Given the description of an element on the screen output the (x, y) to click on. 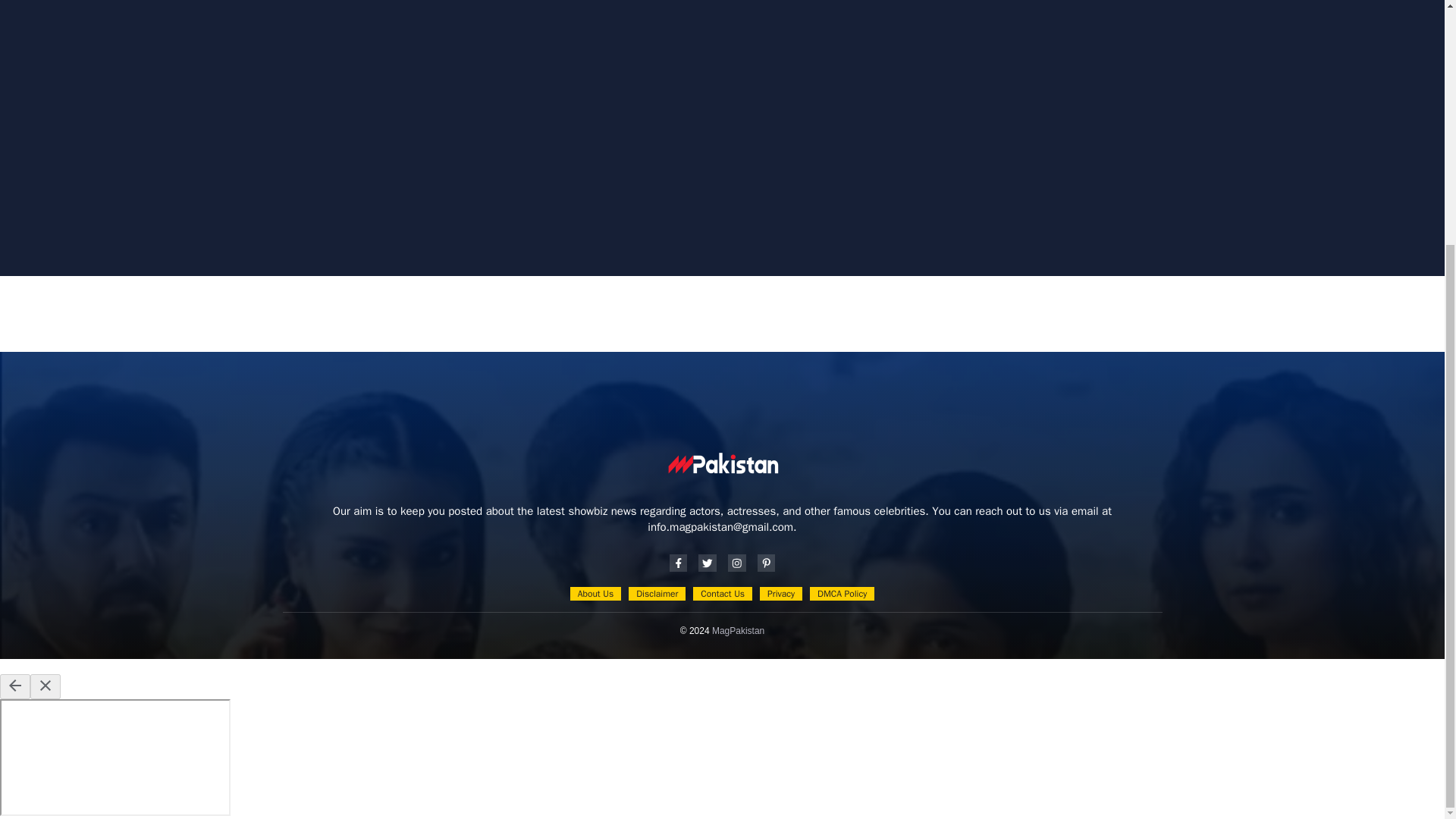
Contact Us (722, 593)
About Us (595, 593)
MagPakistan (737, 630)
Disclaimer (656, 593)
Privacy (781, 593)
DMCA Policy (842, 593)
